Given the description of an element on the screen output the (x, y) to click on. 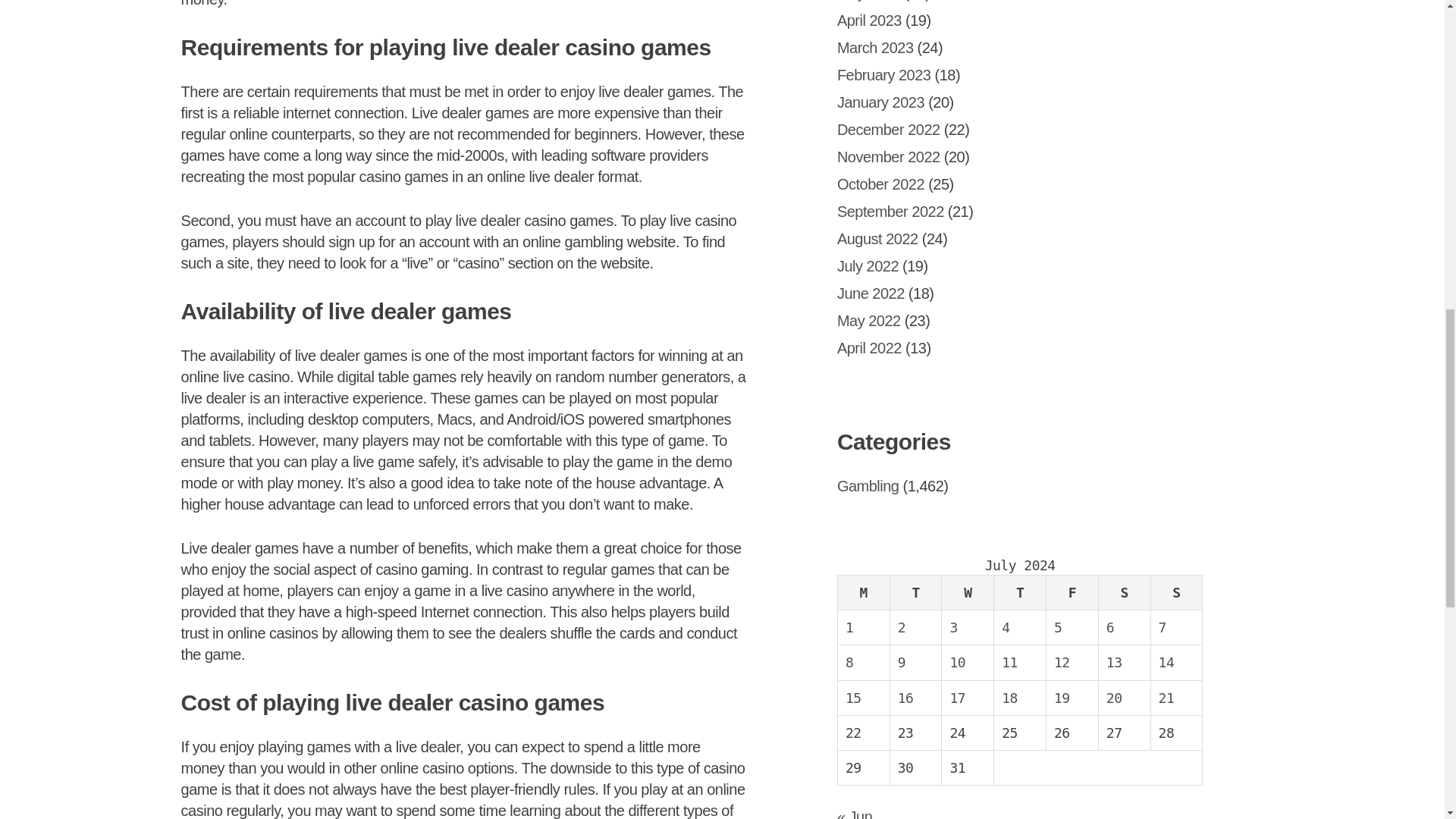
Gambling (868, 485)
Monday (863, 591)
Saturday (1123, 591)
Tuesday (915, 591)
April 2023 (869, 20)
Friday (1072, 591)
April 2022 (869, 347)
Thursday (1020, 591)
February 2023 (884, 74)
Sunday (1176, 591)
January 2023 (880, 102)
December 2022 (888, 129)
May 2022 (869, 320)
November 2022 (888, 156)
June 2022 (870, 293)
